Given the description of an element on the screen output the (x, y) to click on. 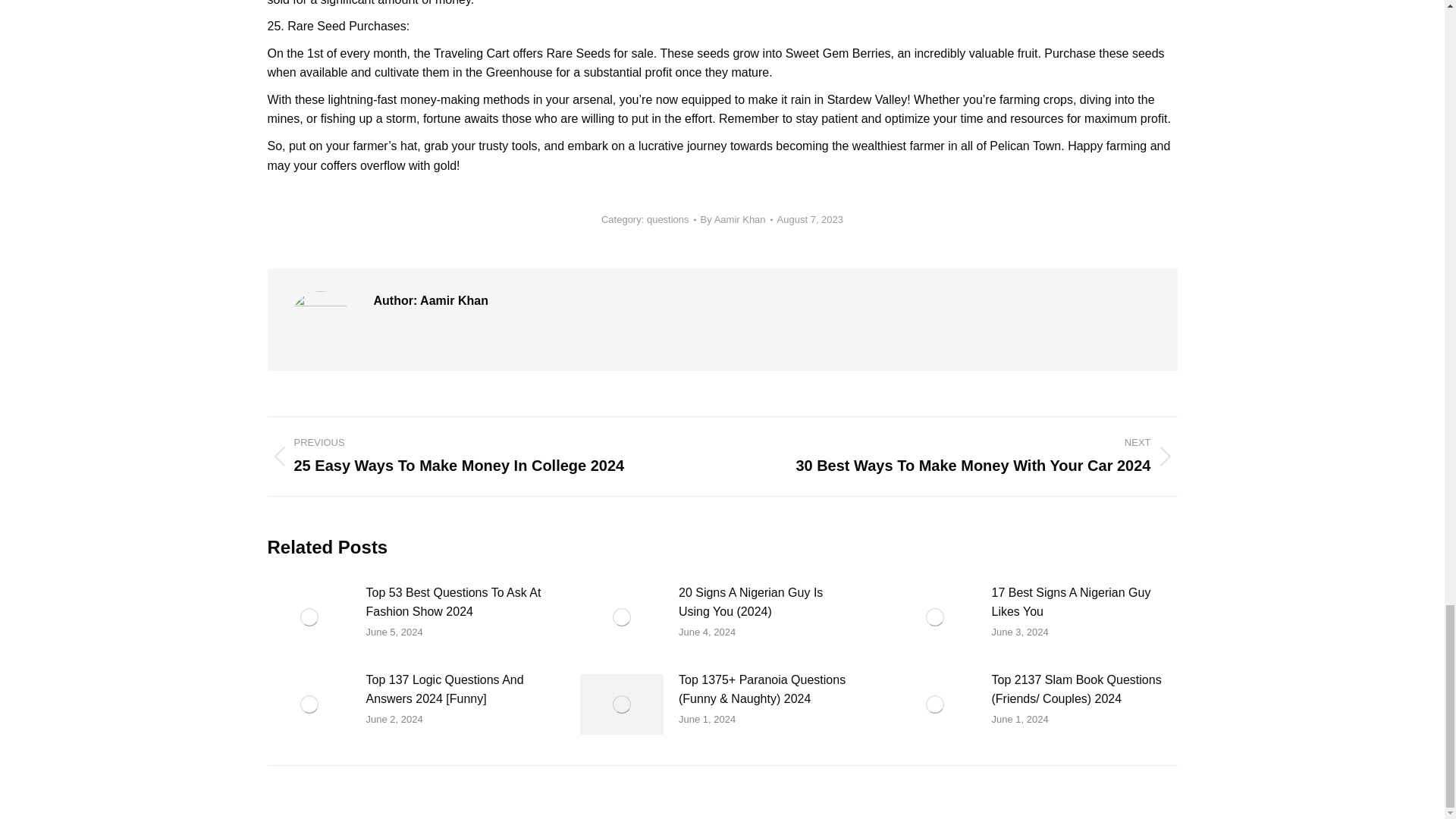
17 Best Signs A Nigerian Guy Likes You (1080, 602)
7:58 am (810, 219)
By Aamir Khan (736, 219)
August 7, 2023 (810, 219)
Top 53 Best Questions To Ask At Fashion Show 2024 (453, 602)
View all posts by Aamir Khan (736, 219)
questions (667, 219)
